Given the description of an element on the screen output the (x, y) to click on. 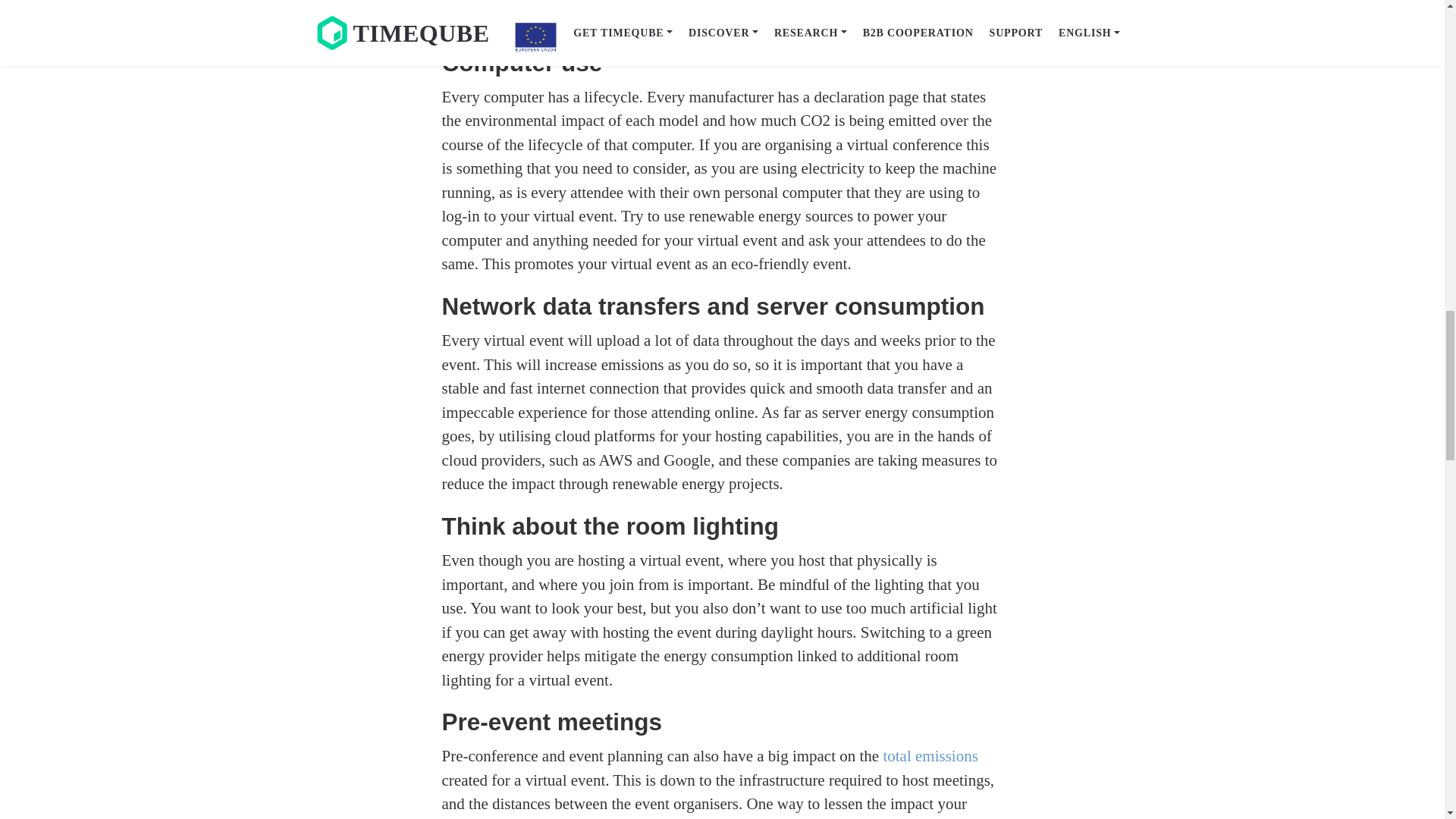
total emissions (929, 755)
